Given the description of an element on the screen output the (x, y) to click on. 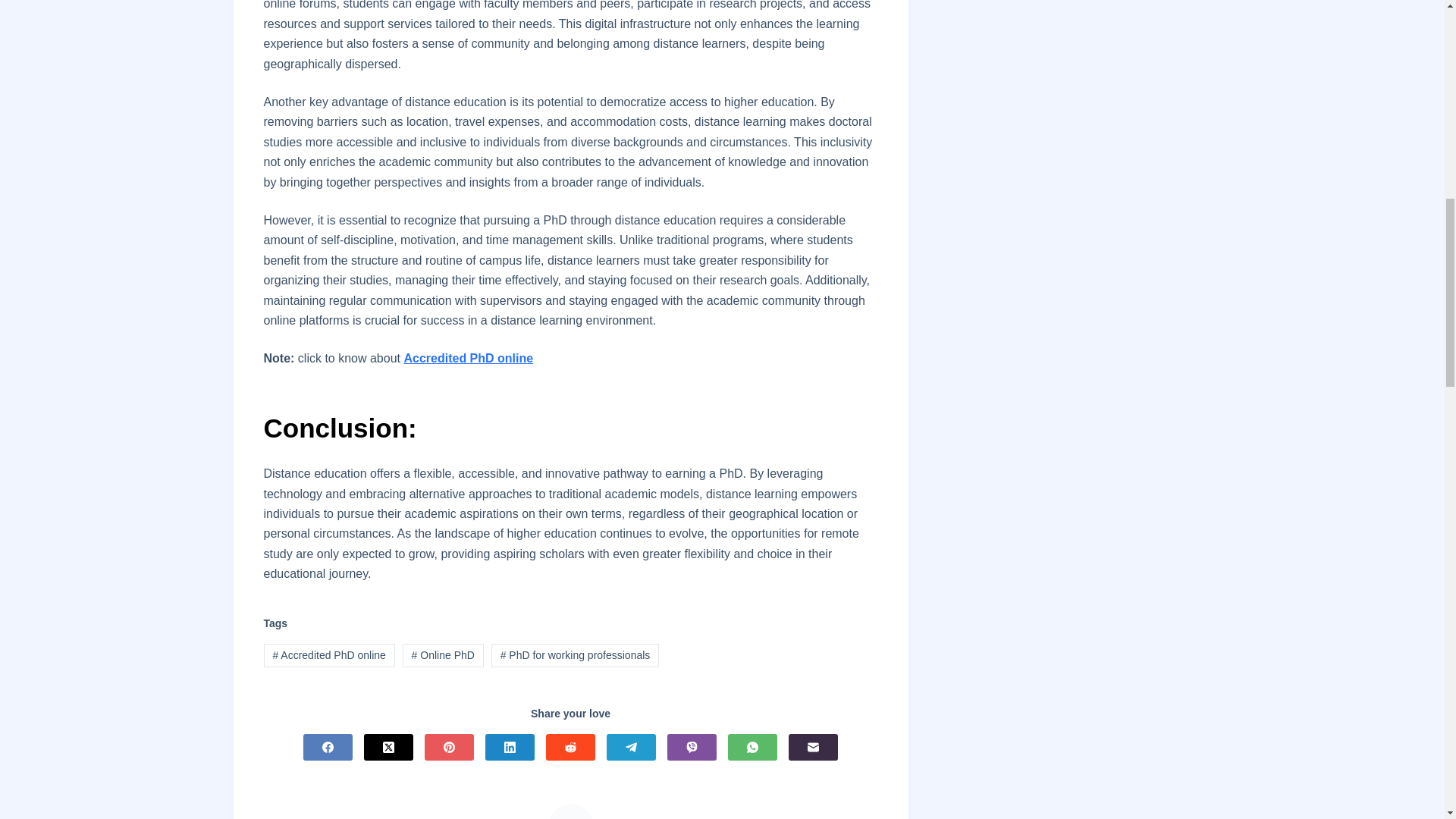
Accredited PhD online (467, 358)
